Given the description of an element on the screen output the (x, y) to click on. 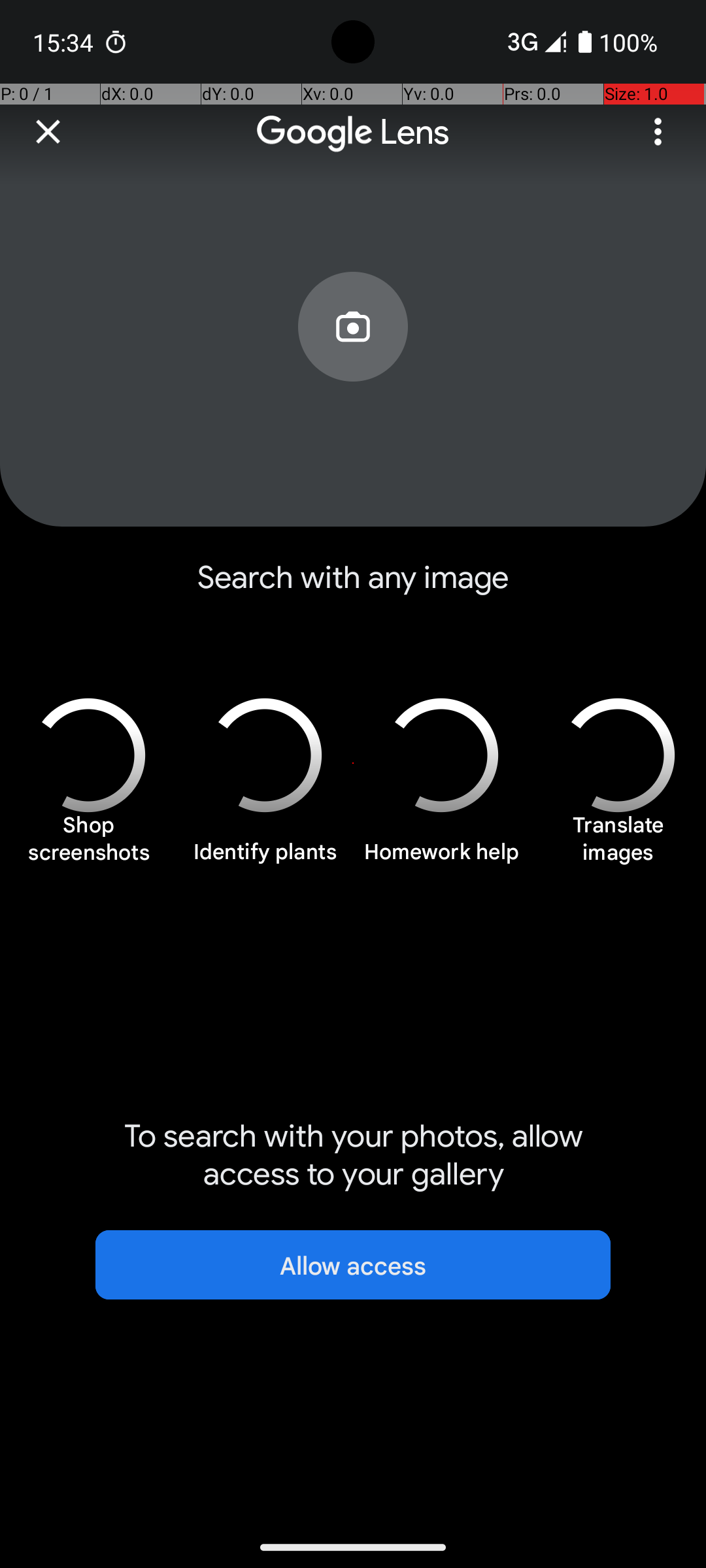
Close Element type: android.widget.ImageView (47, 131)
More options Element type: android.widget.ImageView (657, 131)
Google Lens Element type: android.view.ViewGroup (352, 132)
Search with your camera Element type: android.widget.FrameLayout (353, 356)
Search with any image Element type: android.widget.TextView (353, 587)
Shop screenshots Element type: android.widget.TextView (88, 845)
Identify plants Element type: android.widget.TextView (264, 858)
Homework help Element type: android.widget.TextView (441, 858)
Translate images Element type: android.widget.TextView (617, 845)
To search with your photos, allow access to your gallery Element type: android.widget.TextView (352, 1154)
Allow access Element type: android.widget.Button (352, 1264)
